Given the description of an element on the screen output the (x, y) to click on. 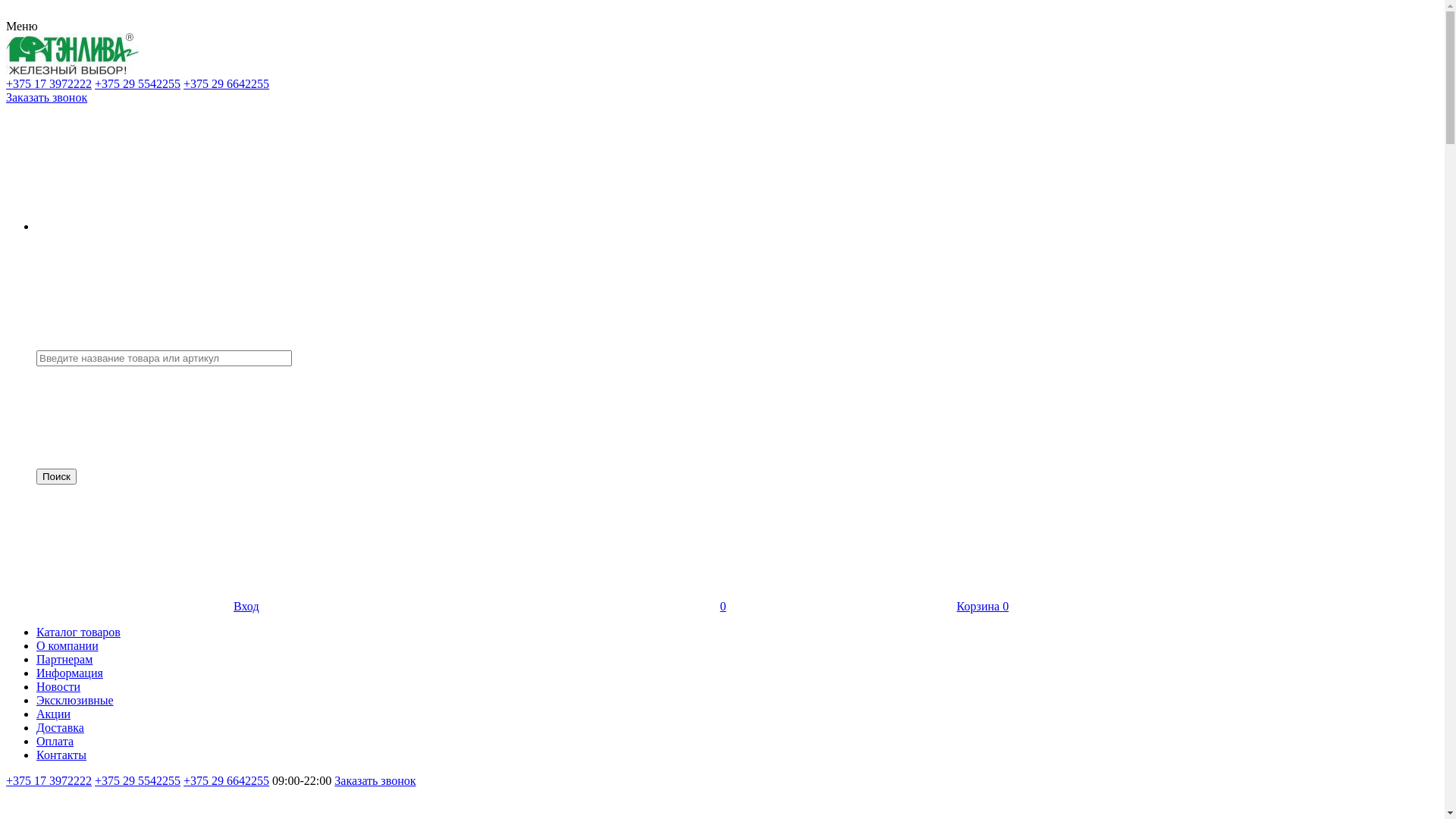
+375 29 6642255 Element type: text (226, 83)
+375 29 5542255 Element type: text (137, 780)
0 Element type: text (609, 605)
+375 29 6642255 Element type: text (226, 780)
+375 17 3972222 Element type: text (48, 83)
+375 29 5542255 Element type: text (137, 83)
+375 17 3972222 Element type: text (48, 780)
